Given the description of an element on the screen output the (x, y) to click on. 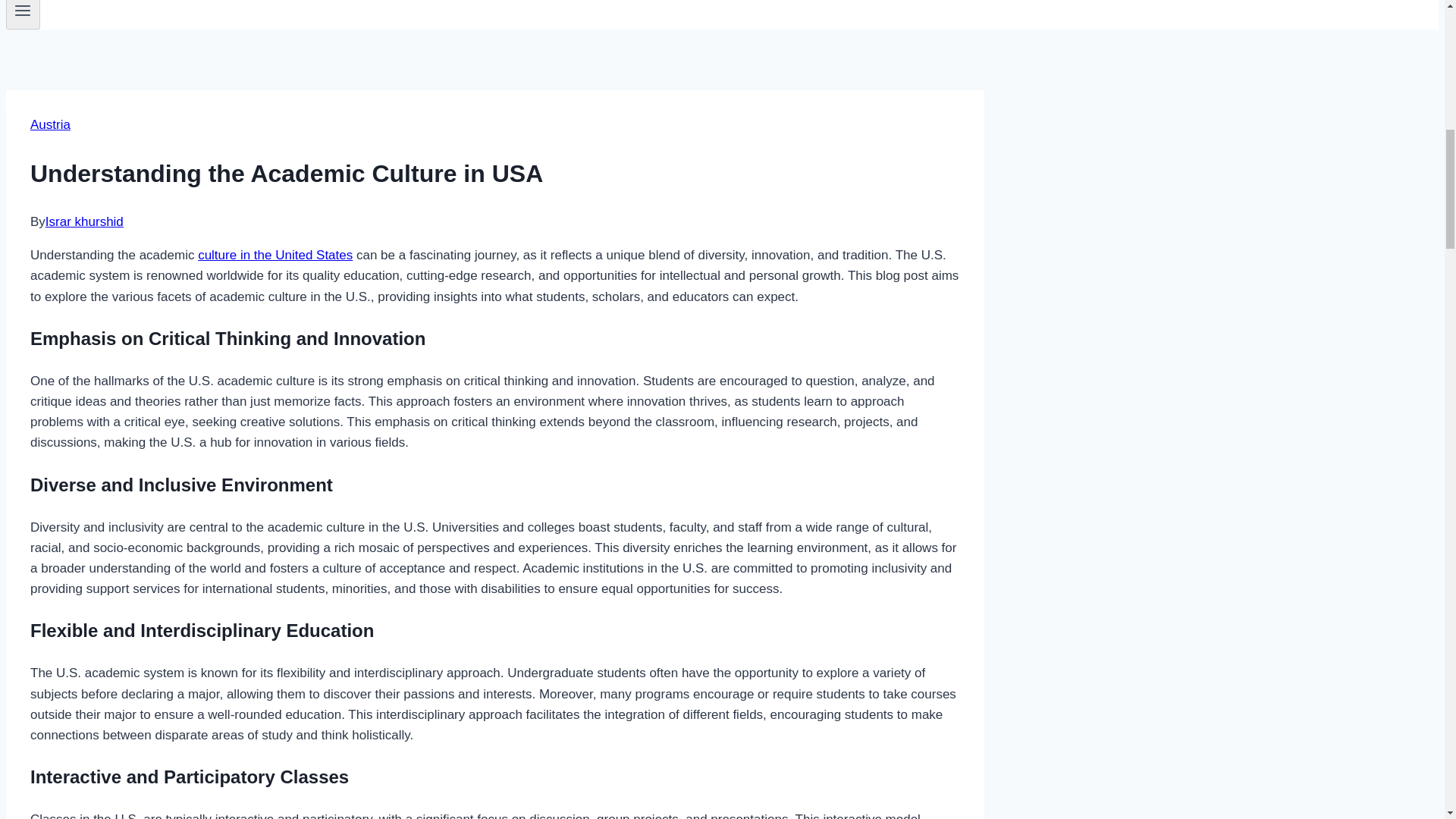
culture in the United States (275, 255)
Austria (49, 124)
Israr khurshid (84, 221)
Toggle Menu (22, 14)
Toggle Menu (22, 10)
